Given the description of an element on the screen output the (x, y) to click on. 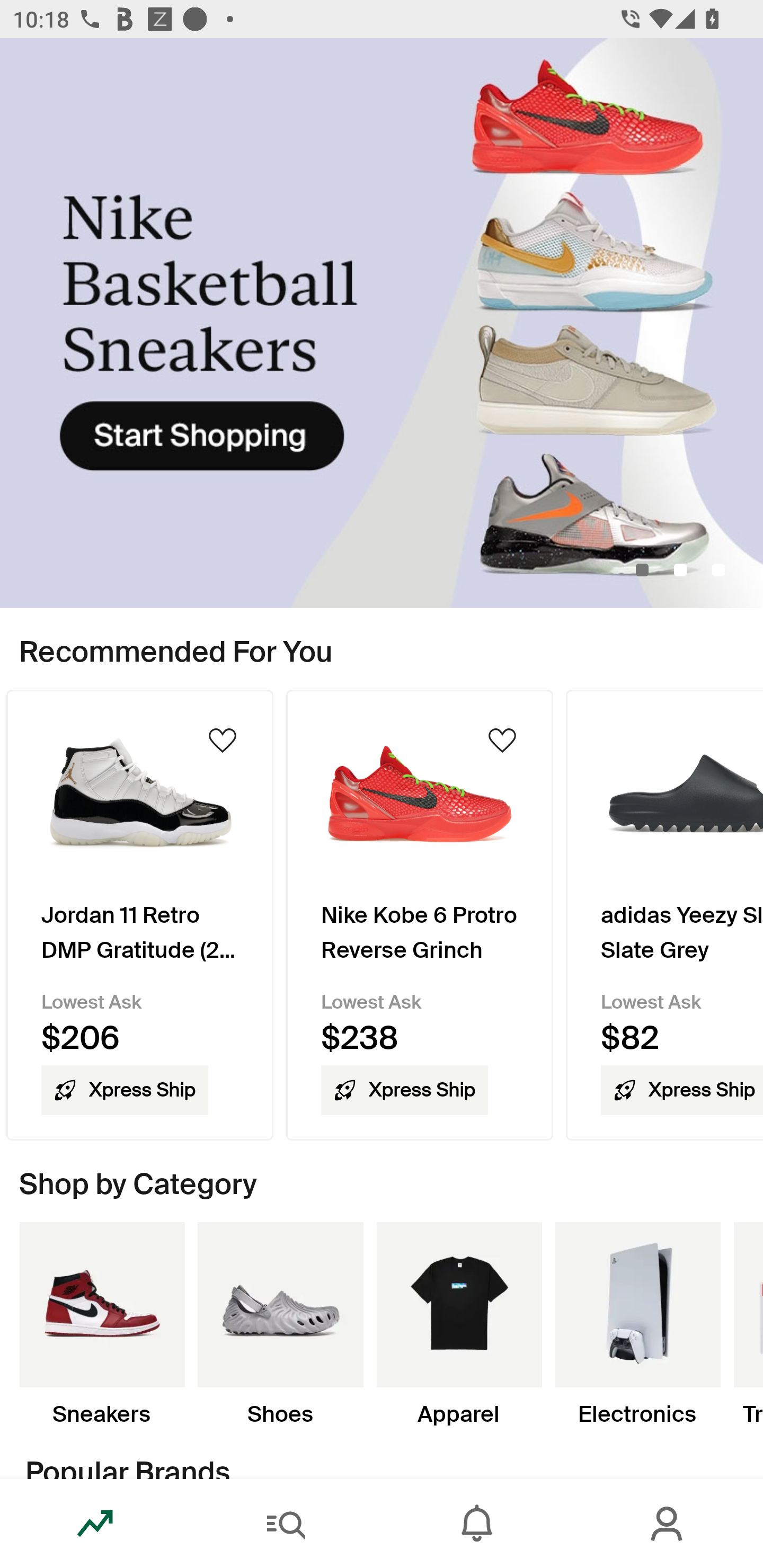
NikeBasketballSprint_Followup_Primary_Mobile.jpg (381, 322)
Product Image Sneakers (101, 1324)
Product Image Shoes (280, 1324)
Product Image Apparel (458, 1324)
Product Image Electronics (637, 1324)
Search (285, 1523)
Inbox (476, 1523)
Account (667, 1523)
